Given the description of an element on the screen output the (x, y) to click on. 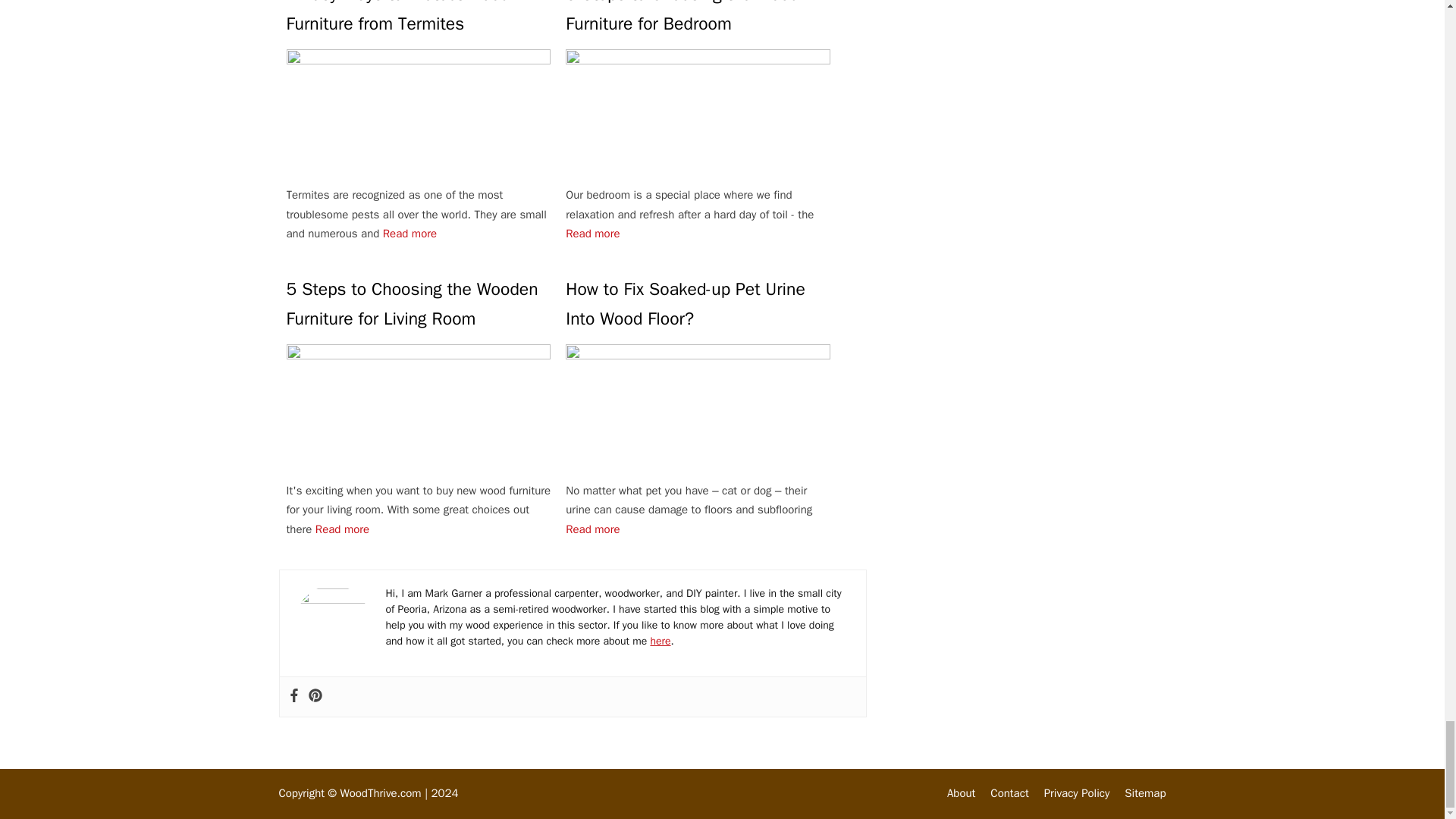
How to Fix Soaked-up Pet Urine Into Wood Floor? (697, 303)
5 Steps to Choosing the Wooden Furniture for Living Room (418, 303)
here (659, 640)
Read more (593, 529)
7 Easy Ways to Protect Wood Furniture from Termites (418, 19)
Read more (593, 233)
Read more (342, 529)
7 Easy Ways to Protect Wood Furniture from Termites (418, 19)
Read more (409, 233)
5 Steps to Choosing the Wood Furniture for Bedroom (697, 19)
